Given the description of an element on the screen output the (x, y) to click on. 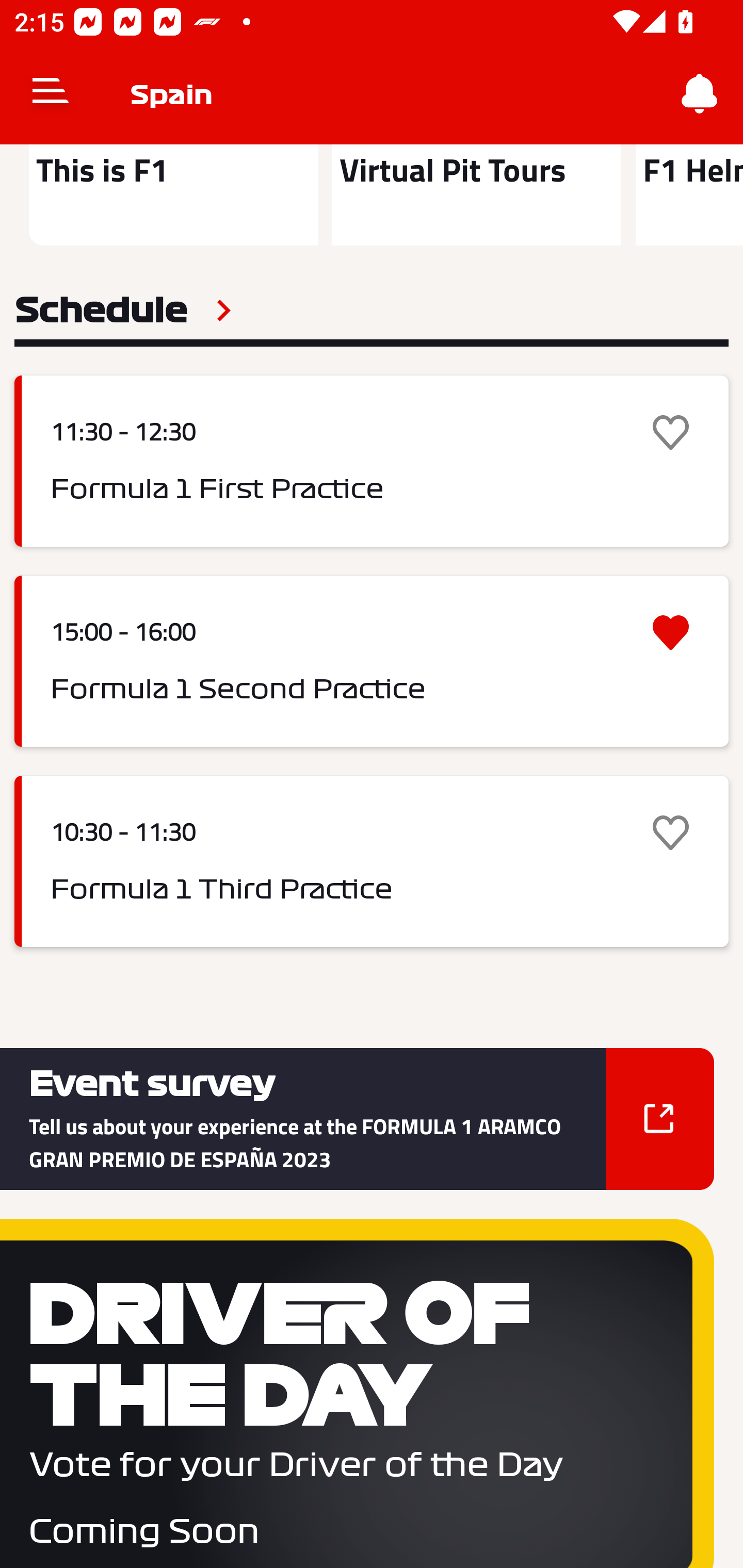
Navigate up (50, 93)
Notifications (699, 93)
This is F1 (173, 195)
Virtual Pit Tours (476, 195)
Schedule (122, 310)
11:30 - 12:30 Formula 1 First Practice (371, 460)
15:00 - 16:00 Formula 1 Second Practice (371, 660)
10:30 - 11:30 Formula 1 Third Practice (371, 861)
